Given the description of an element on the screen output the (x, y) to click on. 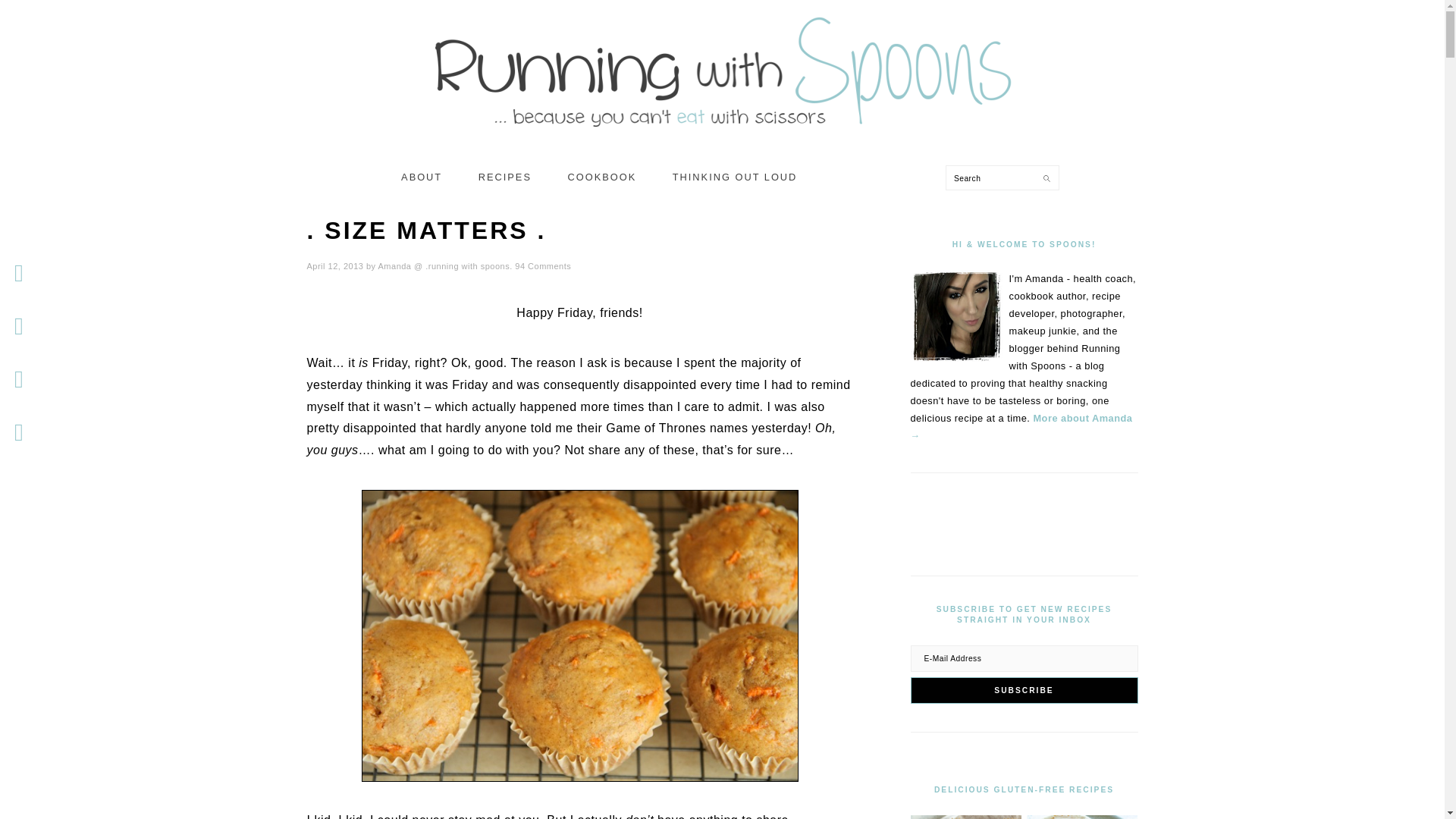
94 Comments (542, 266)
. running with spoons . (722, 64)
Subscribe (1023, 690)
THINKING OUT LOUD (734, 177)
ABOUT (421, 177)
RECIPES (505, 177)
. running with spoons . (722, 132)
COOKBOOK (601, 177)
